Given the description of an element on the screen output the (x, y) to click on. 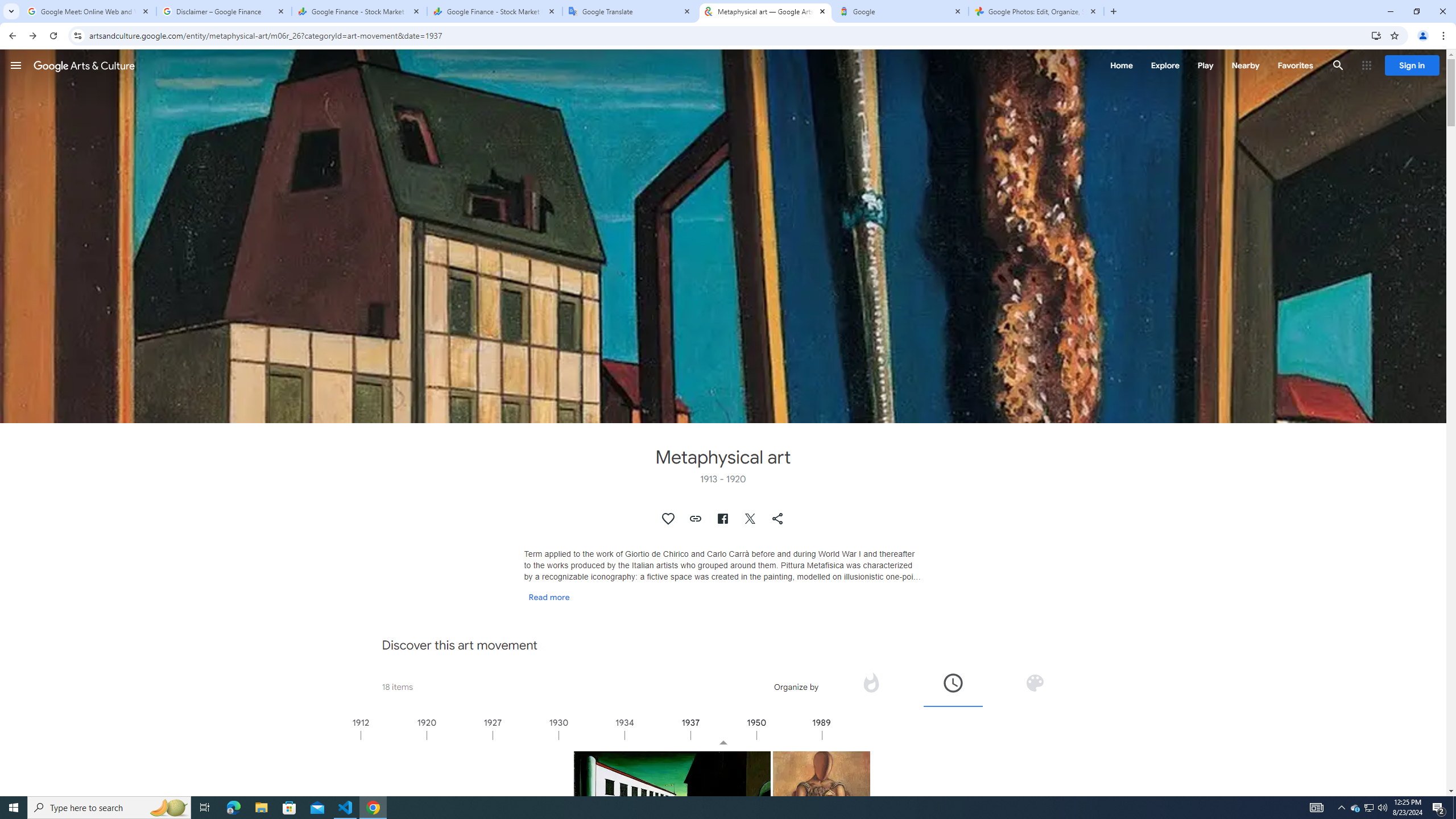
Organize by time (952, 686)
Organize by time (951, 682)
Home (1120, 65)
Share on Twitter (750, 518)
1920 (459, 734)
1912 (392, 734)
